Given the description of an element on the screen output the (x, y) to click on. 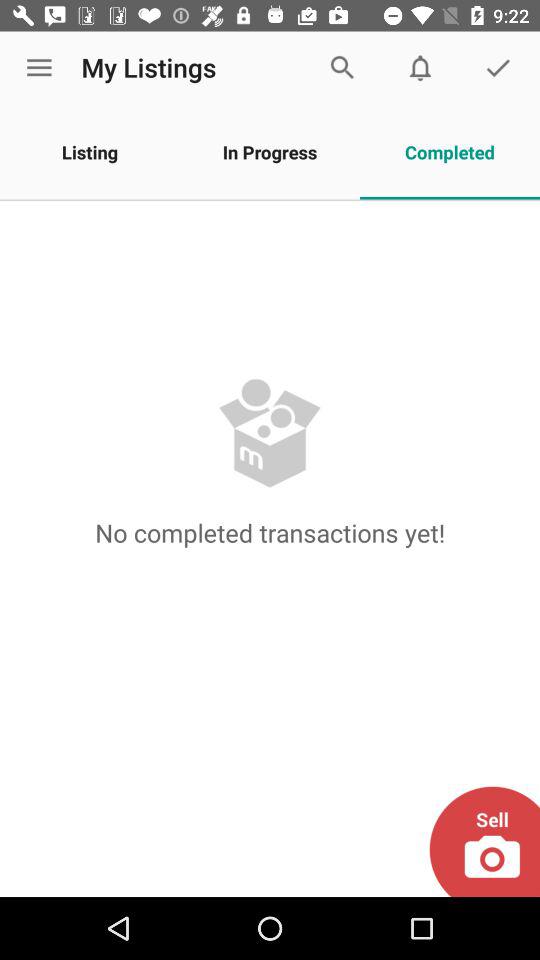
sell your products by clicking on it (484, 841)
